Given the description of an element on the screen output the (x, y) to click on. 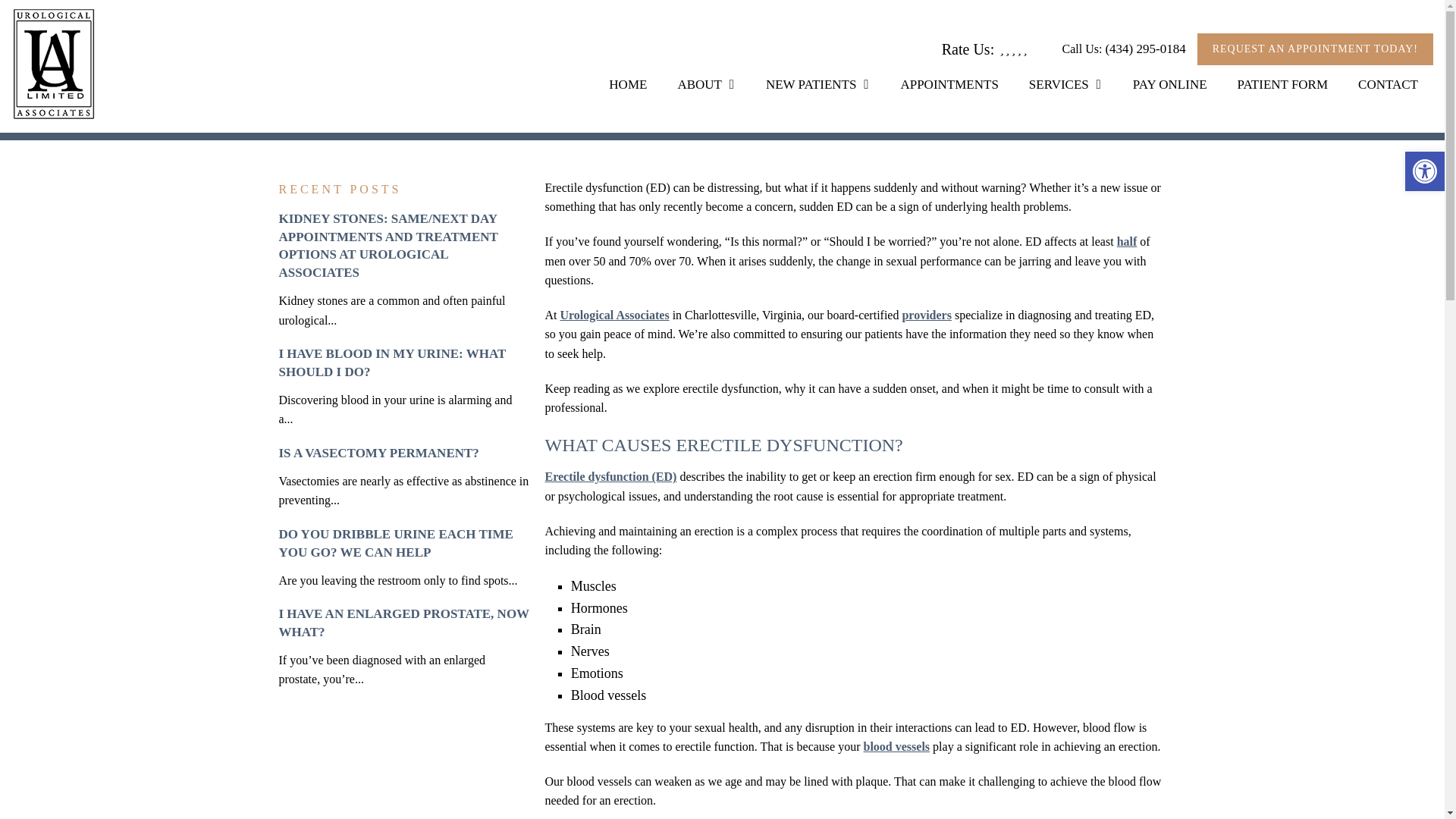
REQUEST AN APPOINTMENT TODAY! (1314, 49)
NEW PATIENTS (818, 84)
APPOINTMENTS (949, 84)
ABOUT (706, 84)
SERVICES (1065, 84)
Accessibility Tools (1424, 170)
HOME (628, 84)
